Given the description of an element on the screen output the (x, y) to click on. 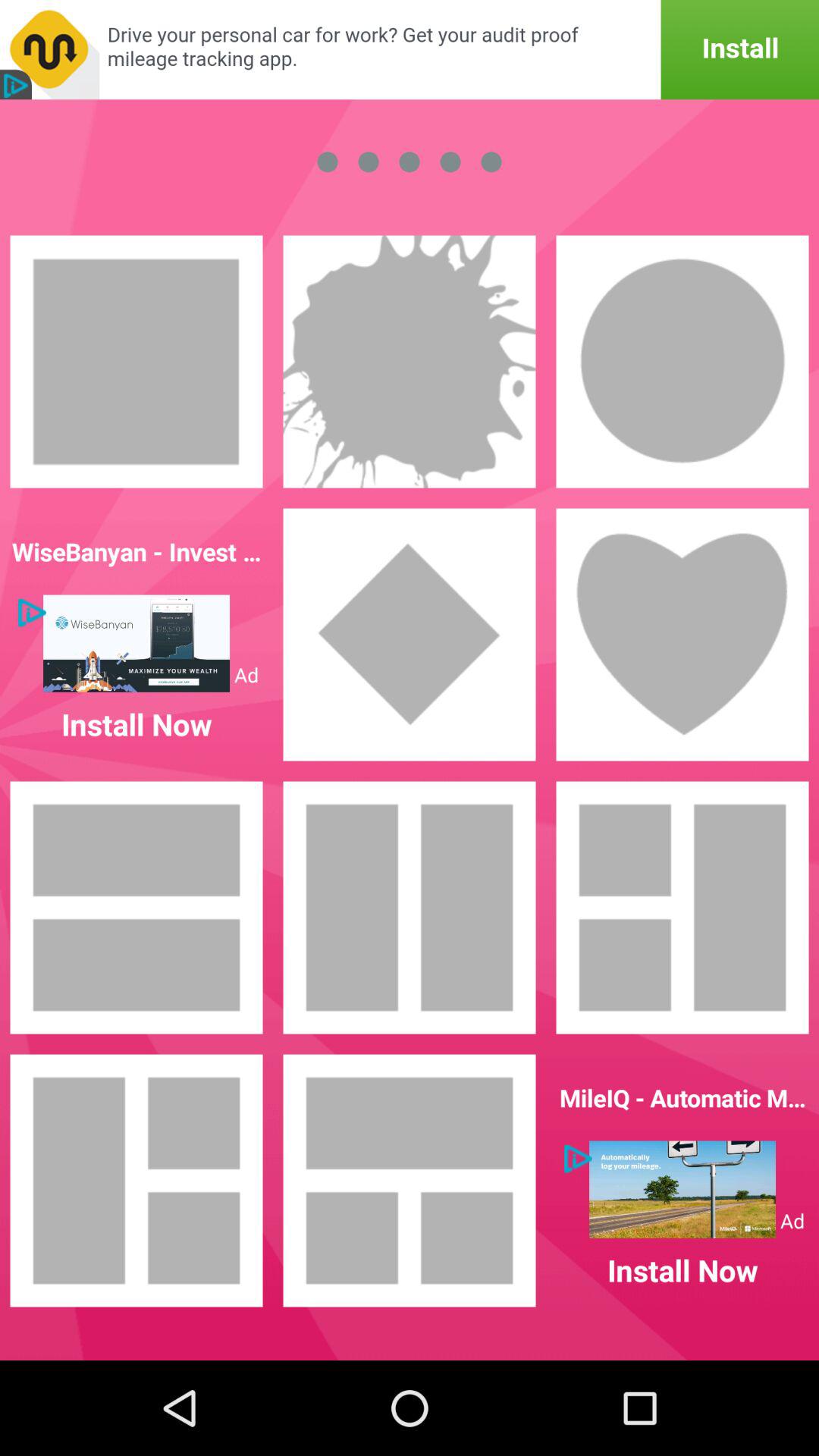
an advertisement (409, 49)
